Given the description of an element on the screen output the (x, y) to click on. 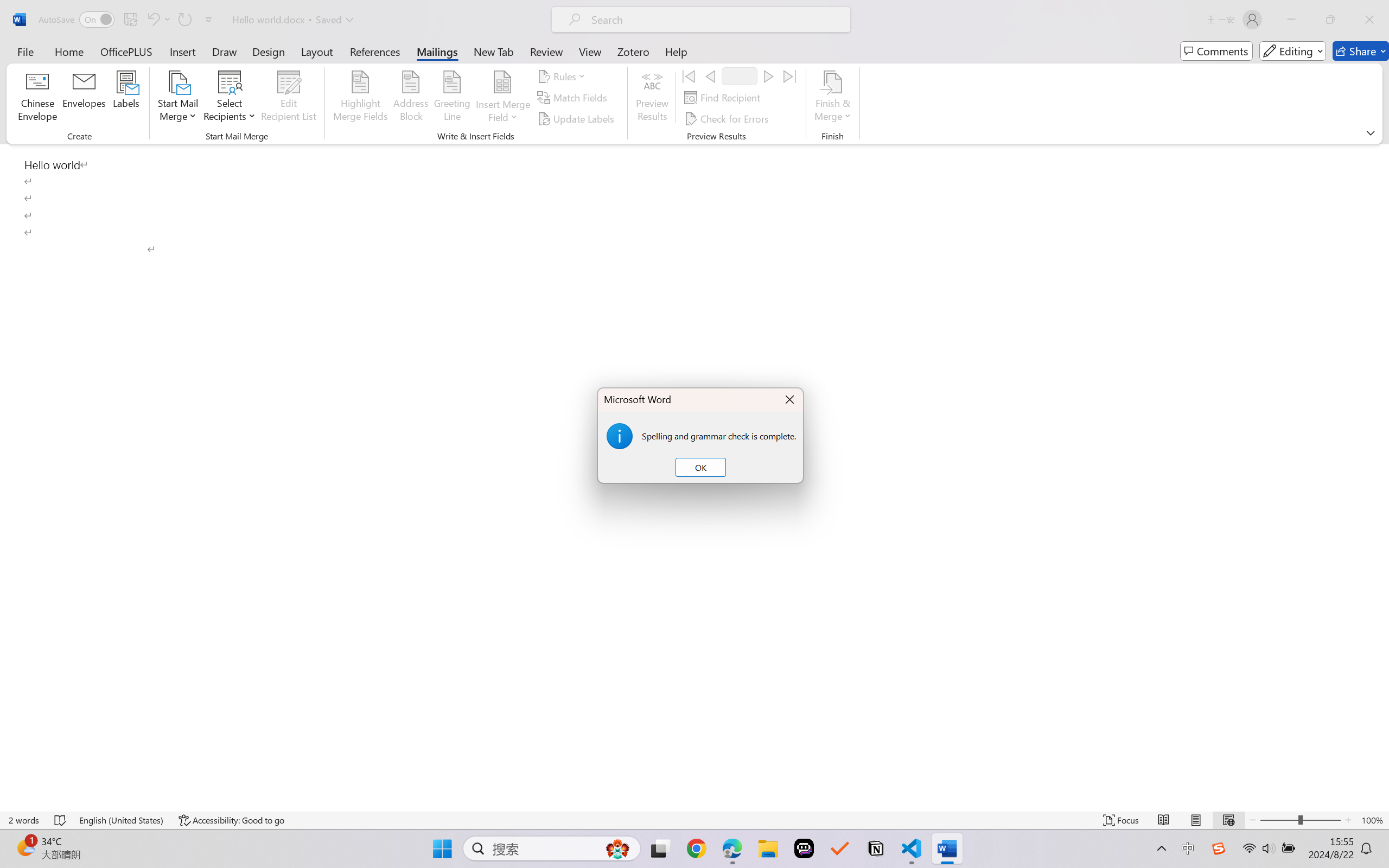
Find Recipient... (723, 97)
Language English (United States) (121, 819)
Save (130, 19)
Select Recipients (229, 97)
Ribbon Display Options (1370, 132)
Help (675, 51)
Labels... (126, 97)
Comments (1216, 50)
First (688, 75)
Design (268, 51)
Insert Merge Field (502, 97)
Restore Down (1330, 19)
Previous (709, 75)
Draw (224, 51)
